Given the description of an element on the screen output the (x, y) to click on. 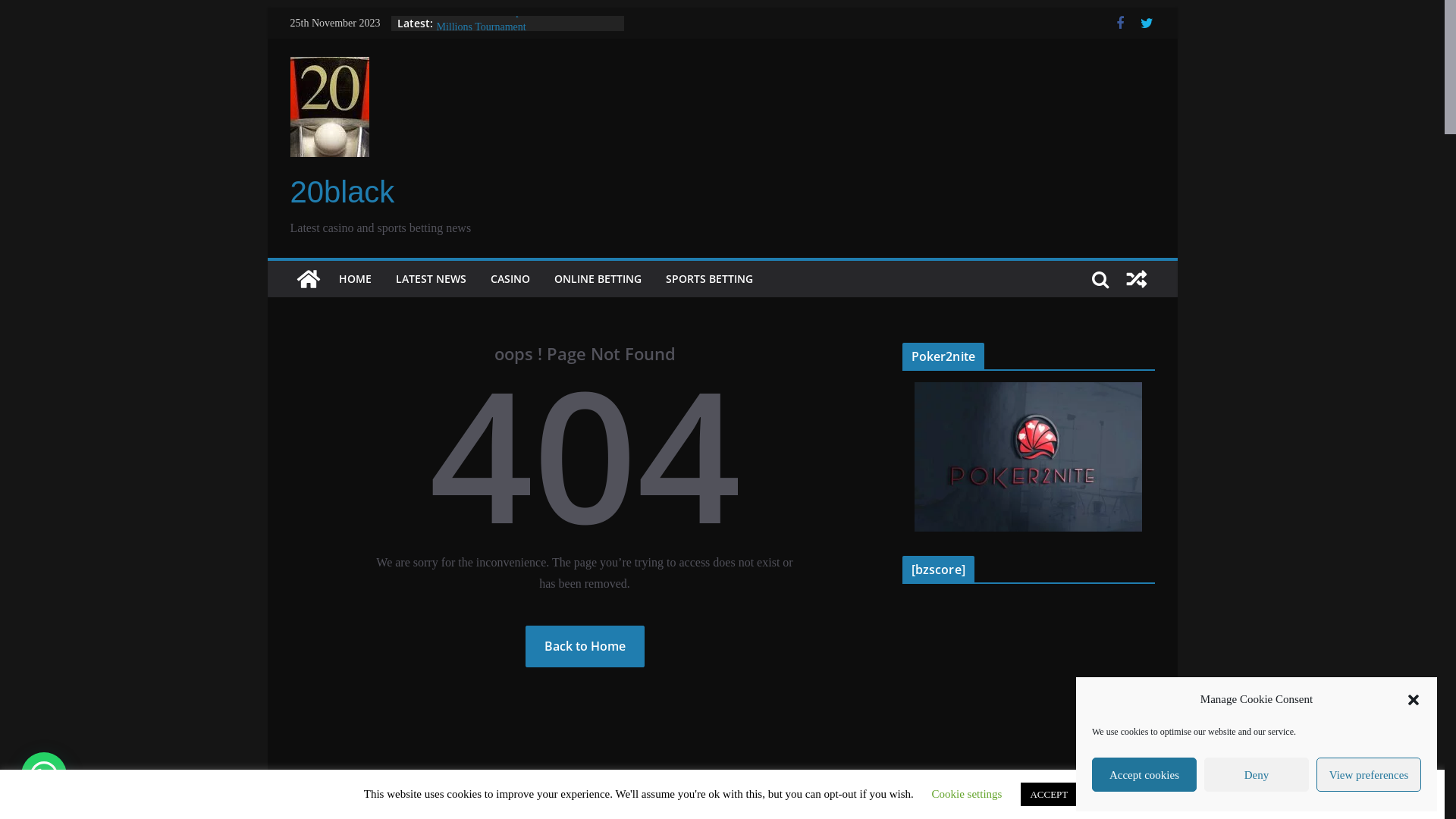
CASINO Element type: text (509, 278)
HOME Element type: text (354, 278)
SPORTS BETTING Element type: text (709, 278)
20black Element type: text (341, 191)
Cookie settings Element type: text (966, 793)
View a random post Element type: hover (1135, 278)
Accept cookies Element type: text (1144, 774)
ACCEPT Element type: text (1048, 794)
Back to Home Element type: text (583, 646)
ONLINE BETTING Element type: text (596, 278)
View preferences Element type: text (1368, 774)
20black Element type: hover (307, 278)
Deny Element type: text (1256, 774)
Philippine Gambling Industry Hits $1.24 Billion In Q3 2023 Element type: text (522, 30)
LATEST NEWS Element type: text (430, 278)
Skip to content Element type: text (266, 6)
